Given the description of an element on the screen output the (x, y) to click on. 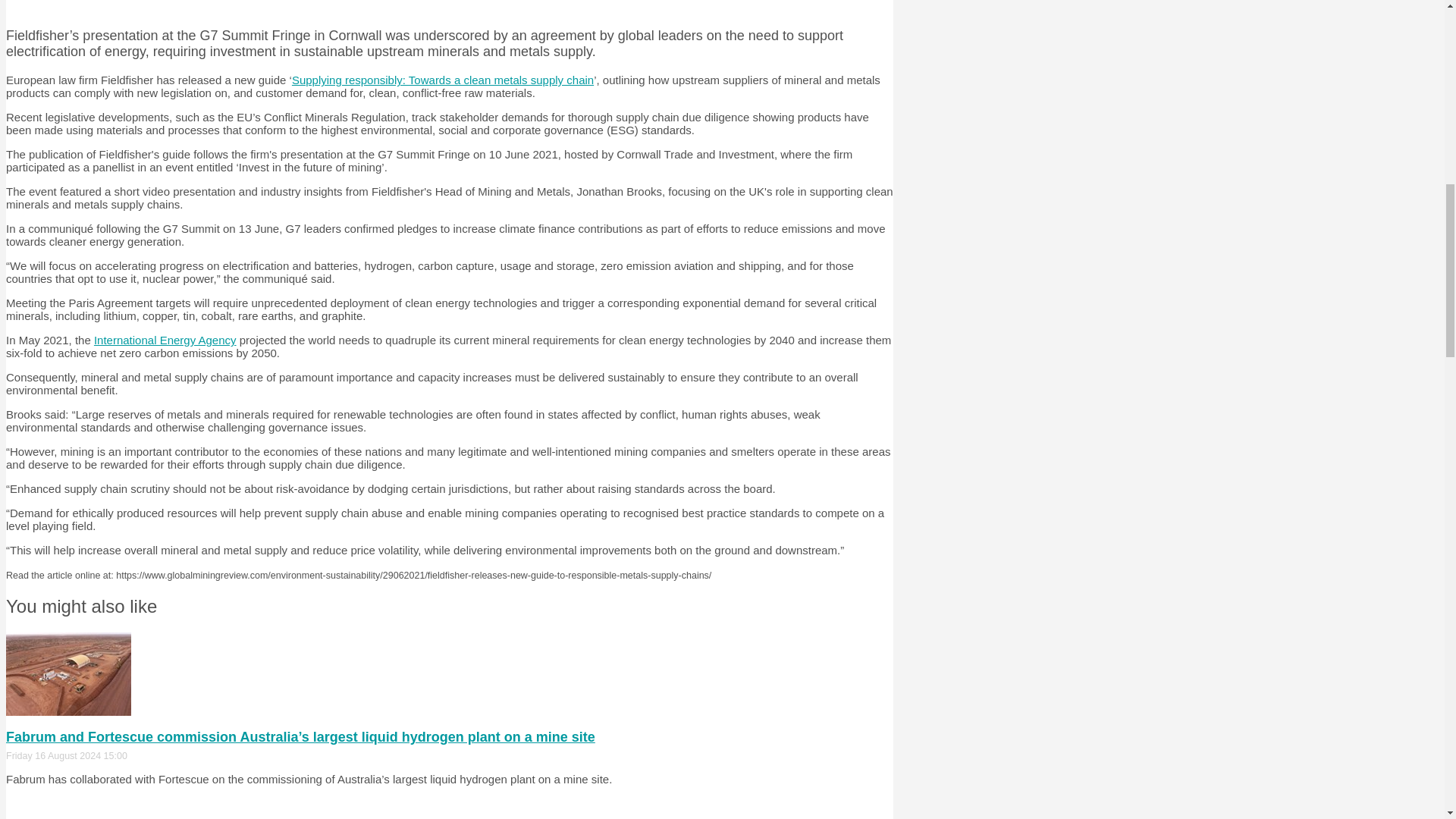
Supplying responsibly: Towards a clean metals supply chain (443, 79)
International Energy Agency (164, 339)
Embed (68, 816)
